Given the description of an element on the screen output the (x, y) to click on. 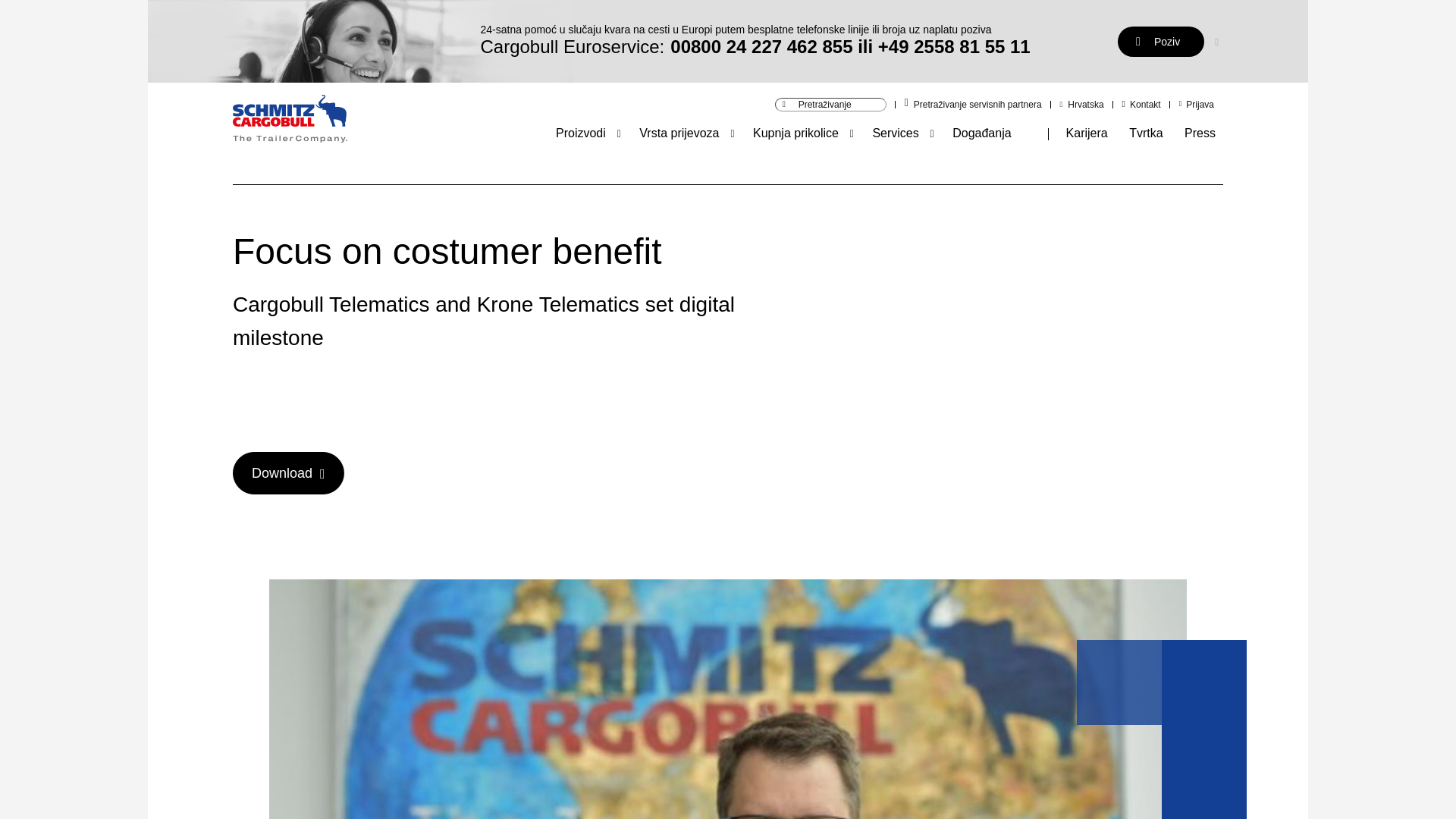
Proizvodi (580, 132)
Poziv (1161, 40)
Logo header (289, 121)
